Given the description of an element on the screen output the (x, y) to click on. 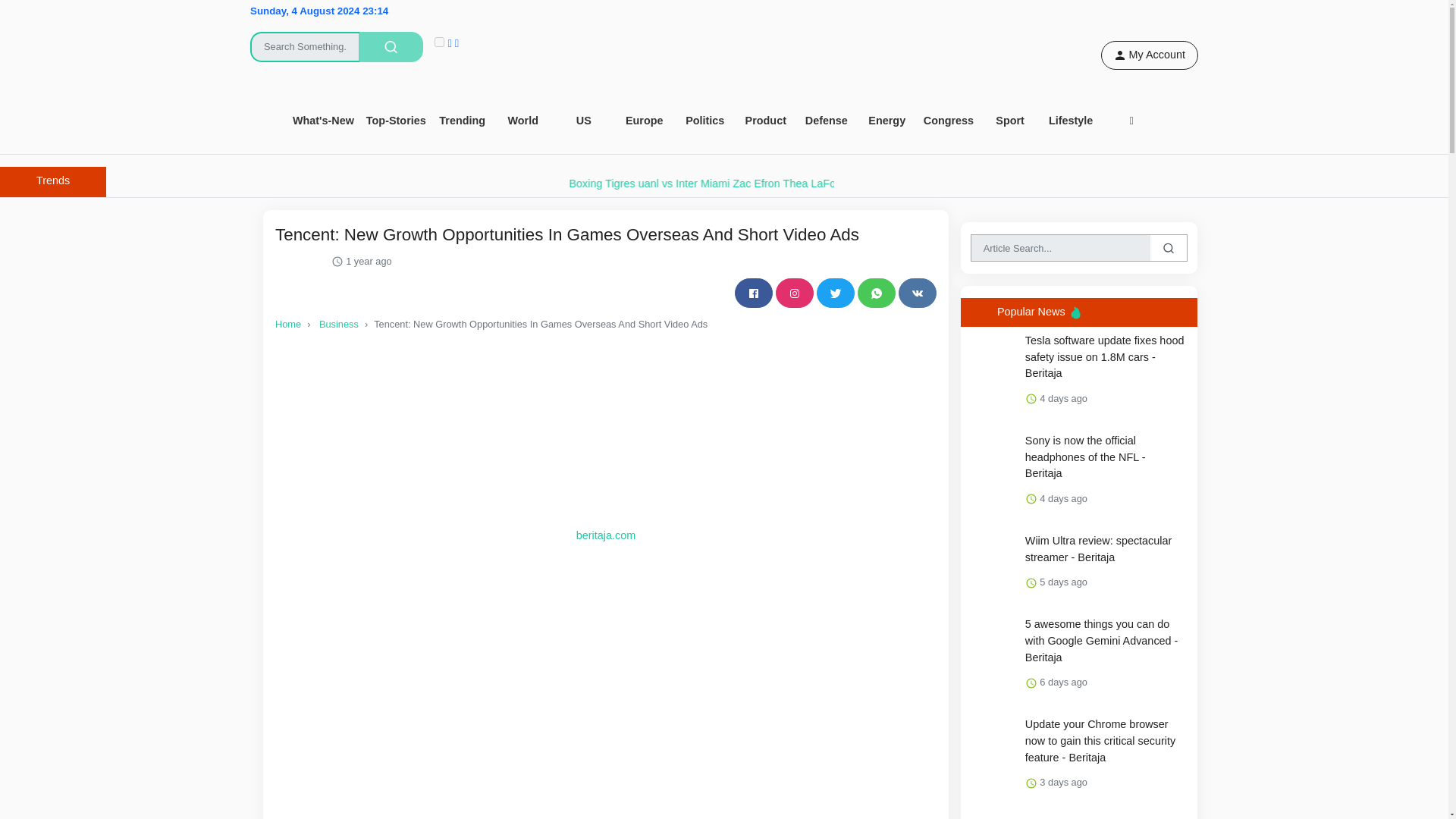
Open (644, 121)
My Account (1149, 55)
Form (360, 35)
My Account (1149, 55)
Europe (644, 121)
on (438, 41)
Top-Stories (395, 121)
What's-New (322, 121)
Open (462, 121)
Open (583, 121)
Trending (462, 121)
Open (765, 121)
Open (322, 121)
Defense (826, 121)
Boxing (802, 183)
